Given the description of an element on the screen output the (x, y) to click on. 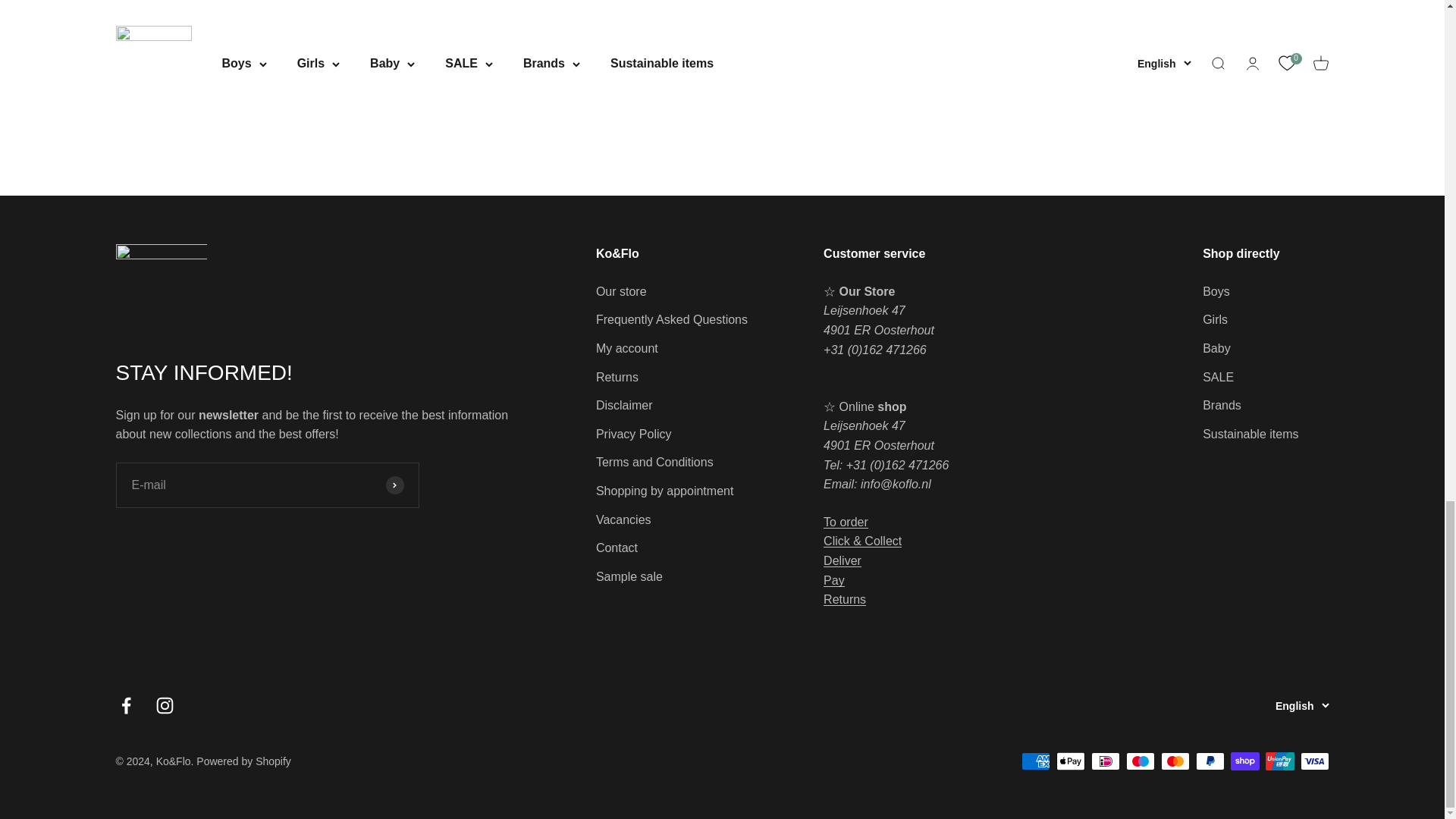
FAQ (834, 580)
FAQ (862, 540)
FAQ (845, 521)
FAQ (842, 560)
